Given the description of an element on the screen output the (x, y) to click on. 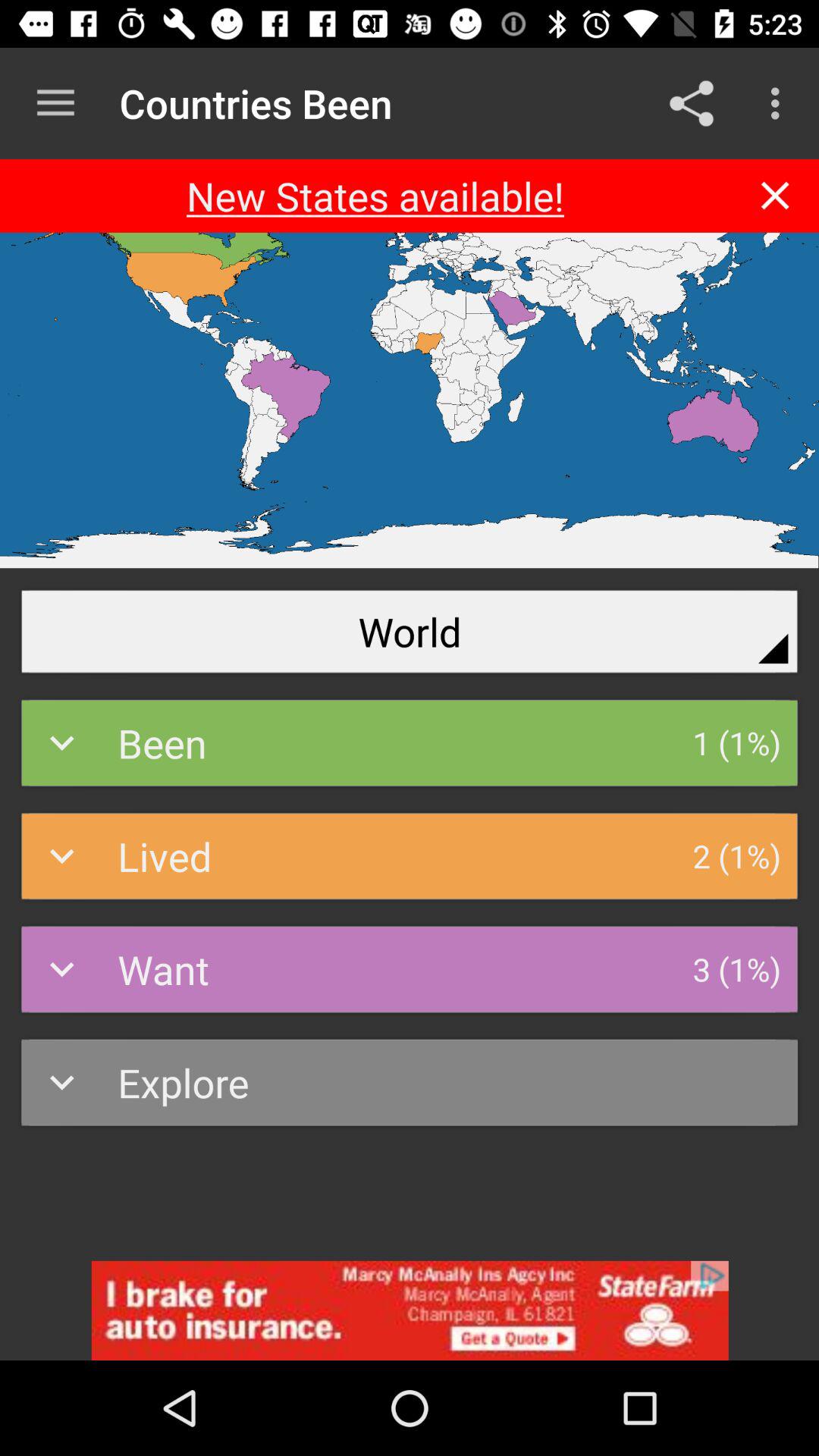
toggle menu (55, 103)
